Given the description of an element on the screen output the (x, y) to click on. 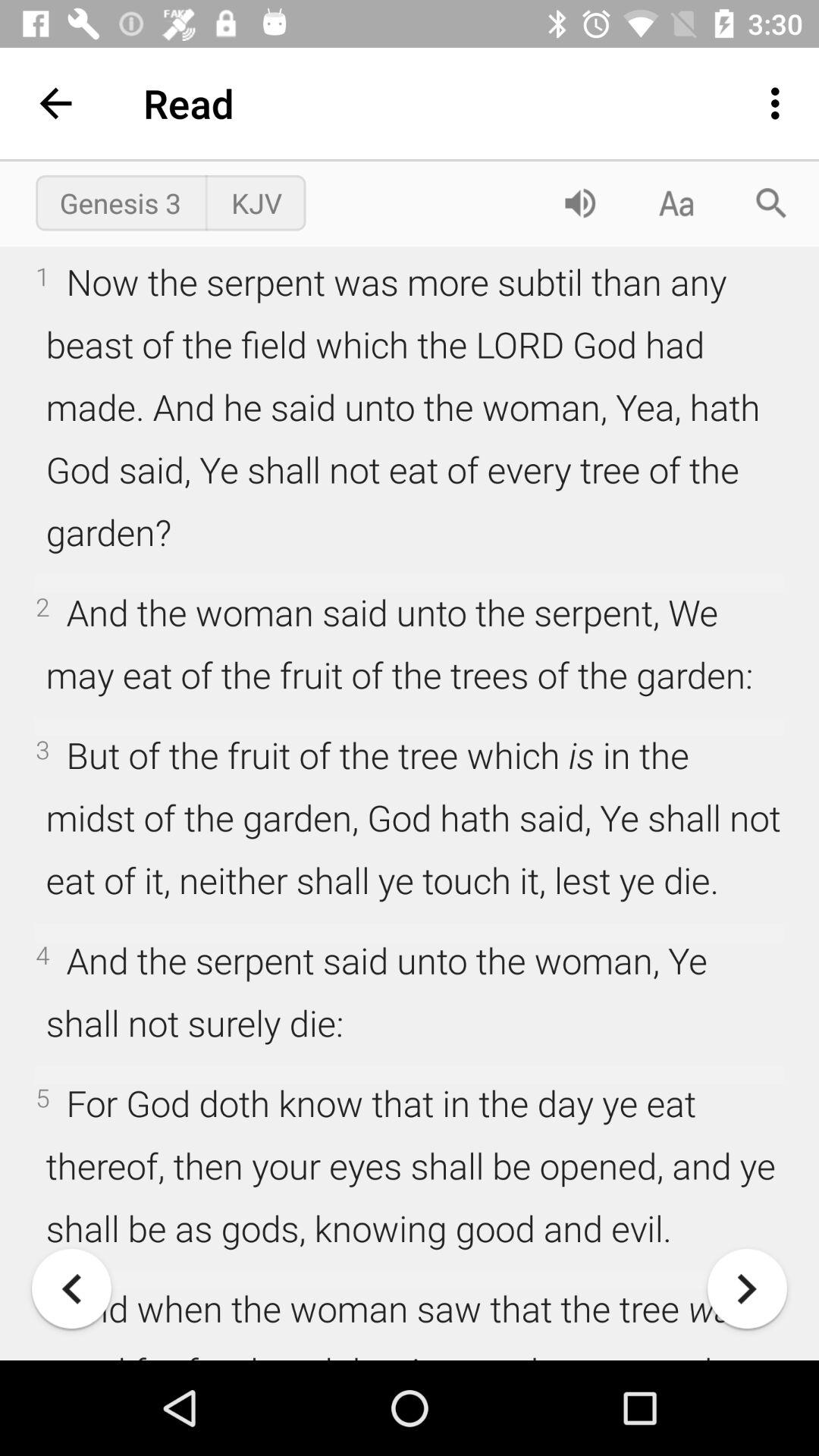
control volume (579, 202)
